Given the description of an element on the screen output the (x, y) to click on. 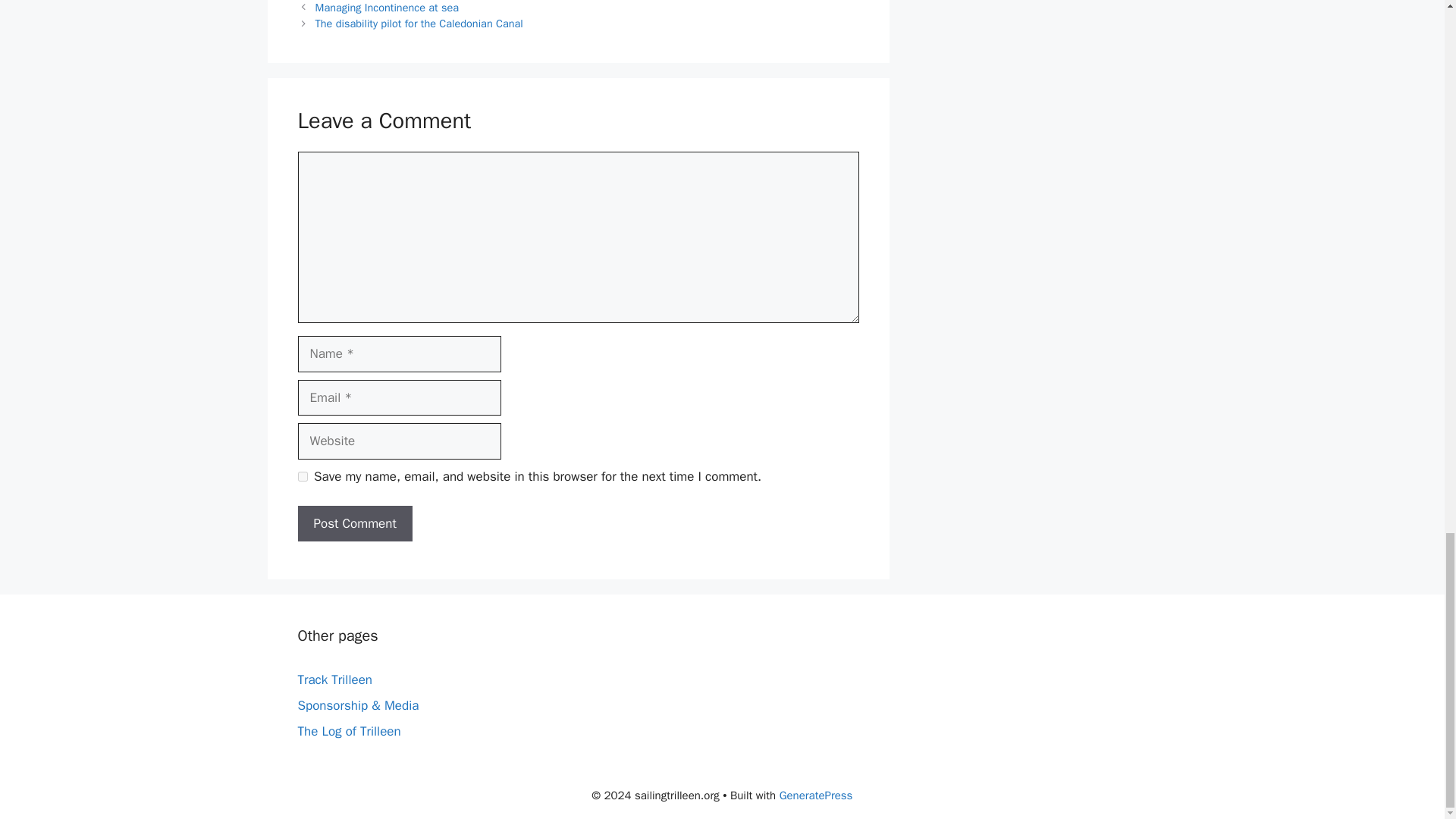
Previous (386, 7)
The Log of Trilleen (348, 731)
Managing Incontinence at sea (386, 7)
The disability pilot for the Caledonian Canal (418, 23)
GeneratePress (815, 795)
Next (418, 23)
Post Comment (354, 524)
Post Comment (354, 524)
Track Trilleen (334, 679)
yes (302, 476)
